Given the description of an element on the screen output the (x, y) to click on. 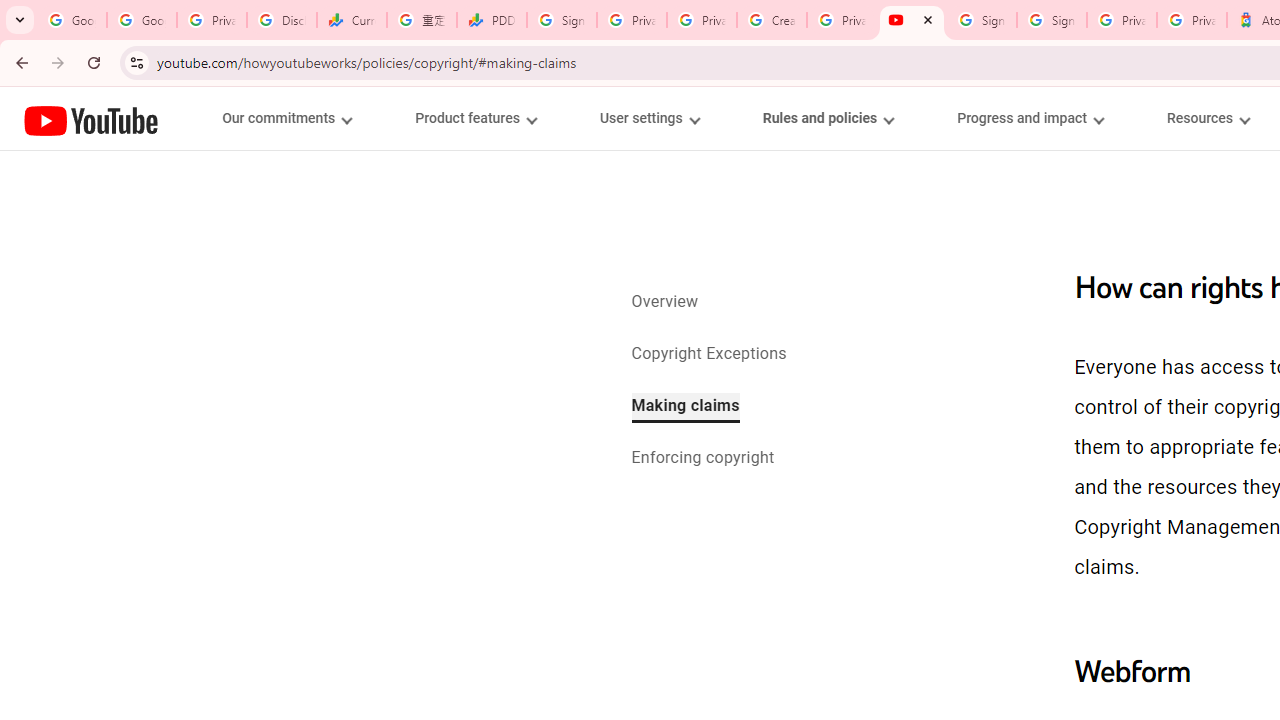
Sign in - Google Accounts (561, 20)
Sign in - Google Accounts (982, 20)
PDD Holdings Inc - ADR (PDD) Price & News - Google Finance (492, 20)
User settings menupopup (648, 118)
JUMP TO CONTENT (209, 119)
